Given the description of an element on the screen output the (x, y) to click on. 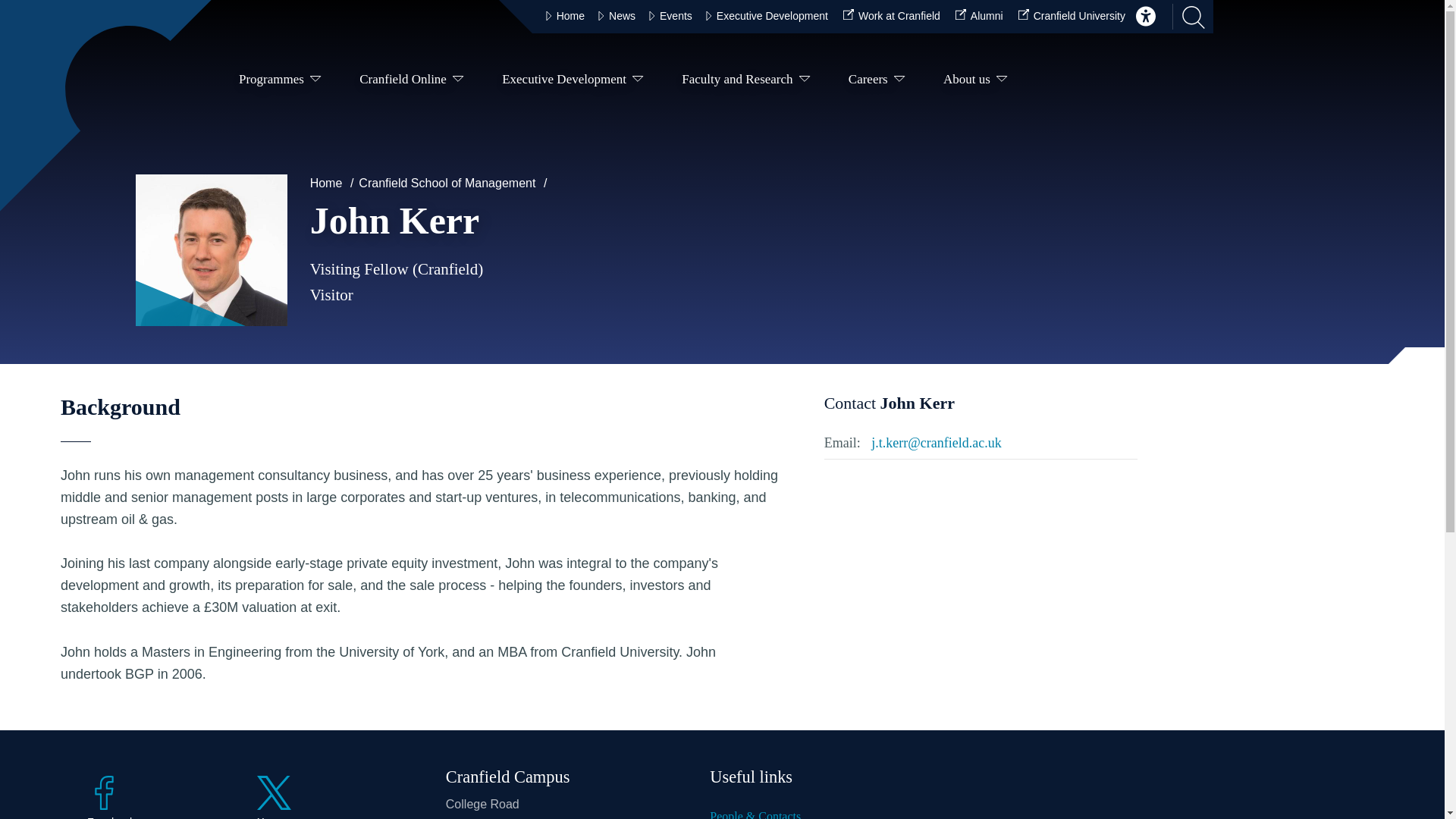
Executive Development (572, 81)
Return to Cranfield School of Management Home (125, 86)
Cranfield Online (411, 81)
Faculty and Research (745, 81)
Programmes (280, 81)
Open Search Bar (1188, 16)
John Kerr (210, 249)
